Given the description of an element on the screen output the (x, y) to click on. 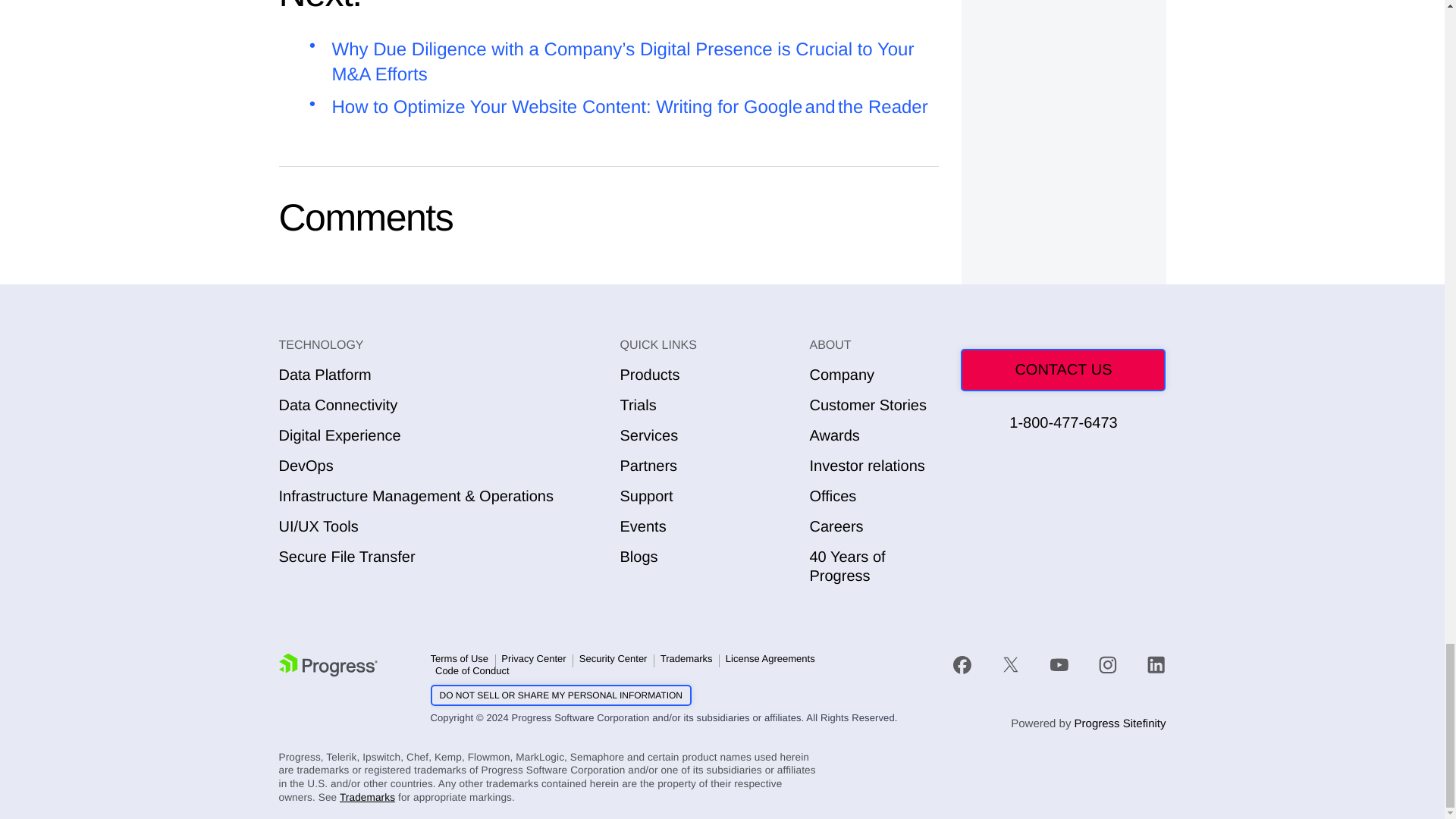
linkedin (1149, 663)
X (1010, 665)
YouTube (1058, 665)
instagram (1107, 663)
Progress (328, 664)
LinkedIn (1156, 665)
Instagram (1107, 665)
X (1011, 663)
Facebook (962, 665)
youtube (1059, 663)
